Given the description of an element on the screen output the (x, y) to click on. 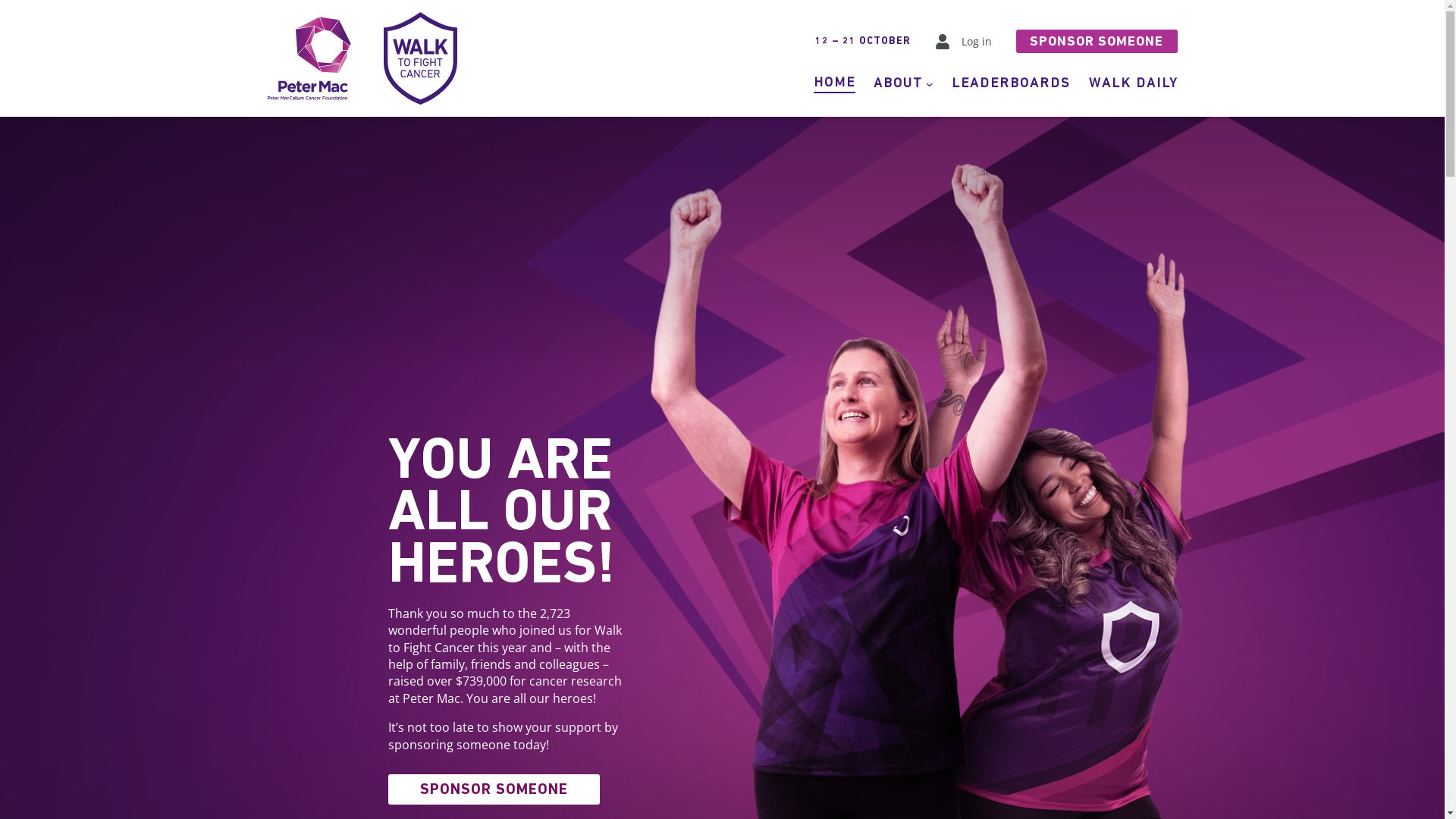
SPONSOR SOMEONE Element type: text (1096, 41)
SPONSOR SOMEONE Element type: text (493, 789)
Log in Element type: text (976, 41)
LEADERBOARDS Element type: text (1010, 83)
ABOUT Element type: text (897, 83)
HOME Element type: text (834, 83)
WALK DAILY Element type: text (1132, 83)
